Given the description of an element on the screen output the (x, y) to click on. 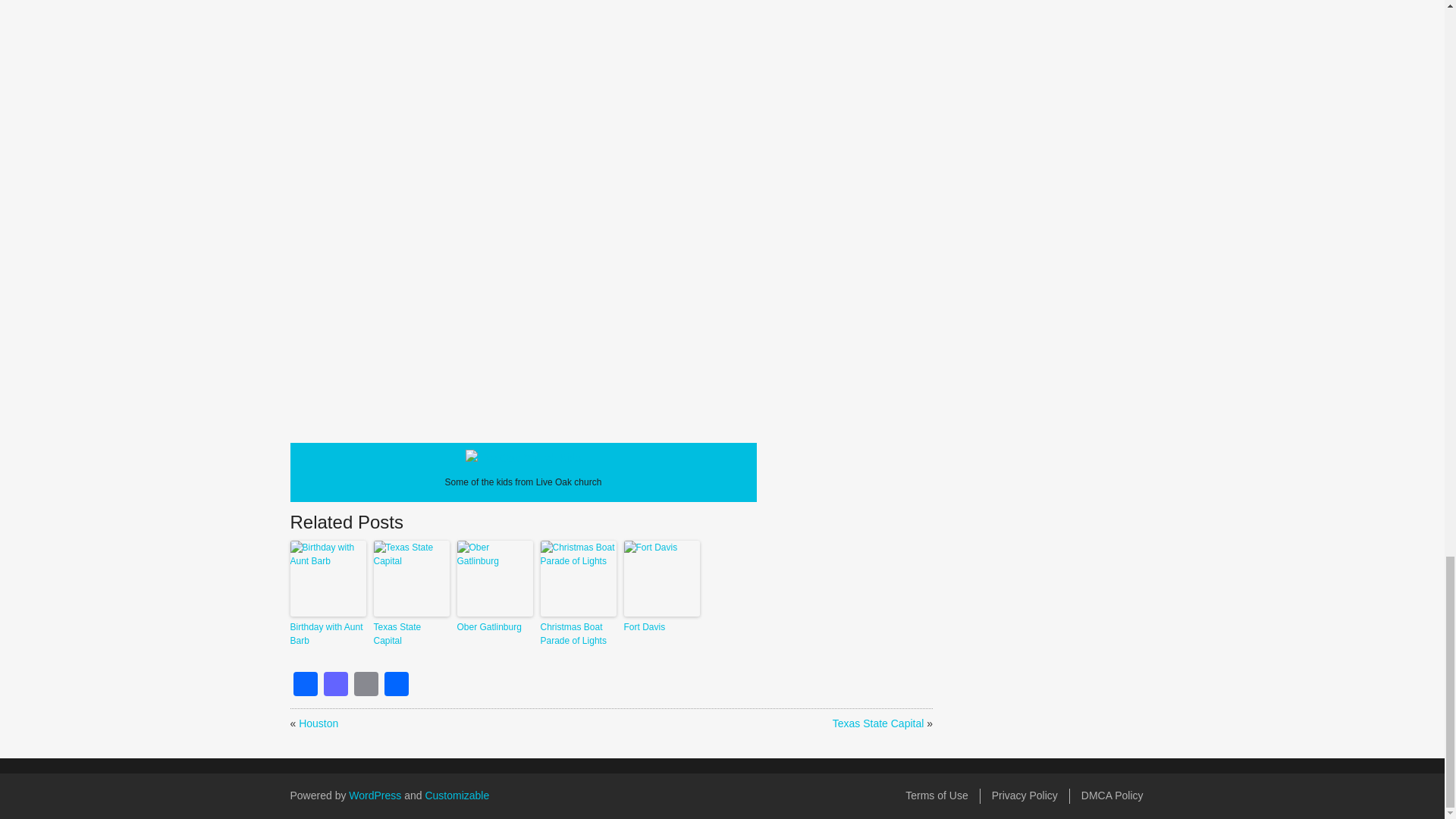
Mastodon (335, 683)
Birthday with Aunt Barb (327, 633)
Email (365, 683)
Facebook (304, 683)
Christmas Boat Parade of Lights (577, 633)
DMCA Policy (1112, 795)
Customizable (457, 795)
Ober Gatlinburg (494, 626)
Share (395, 683)
WordPress (375, 795)
